Given the description of an element on the screen output the (x, y) to click on. 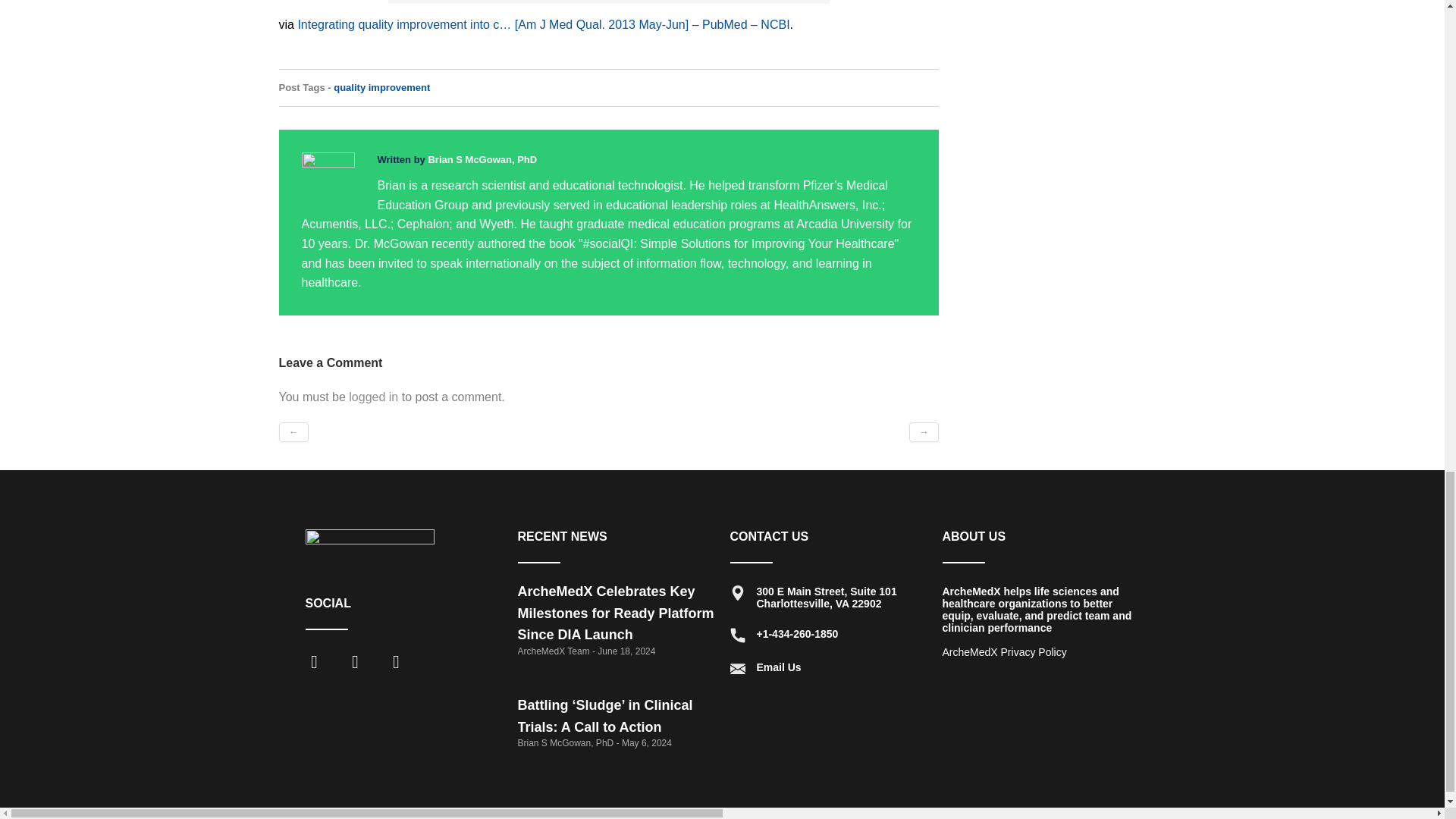
Posts by Brian S McGowan, PhD (482, 159)
quality improvement (381, 87)
Brian S McGowan, PhD (482, 159)
